Given the description of an element on the screen output the (x, y) to click on. 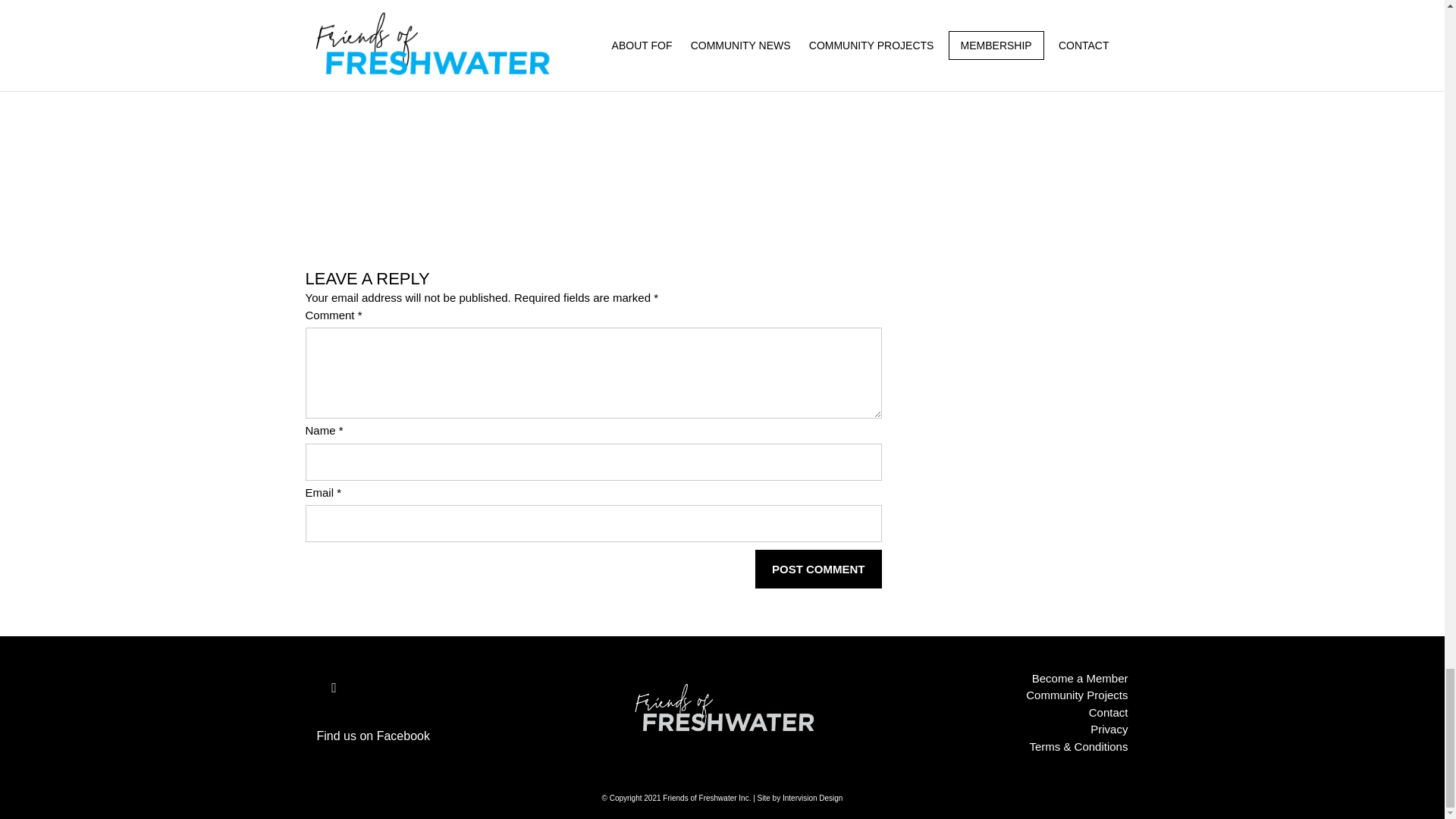
Intervision Design (813, 797)
Contact (1108, 712)
Post Comment (818, 568)
Become a Member (1080, 677)
Community Projects (1076, 694)
Friends of Freshwater Inc. on Facebook (333, 687)
Privacy (1108, 728)
Post Comment (818, 568)
